Given the description of an element on the screen output the (x, y) to click on. 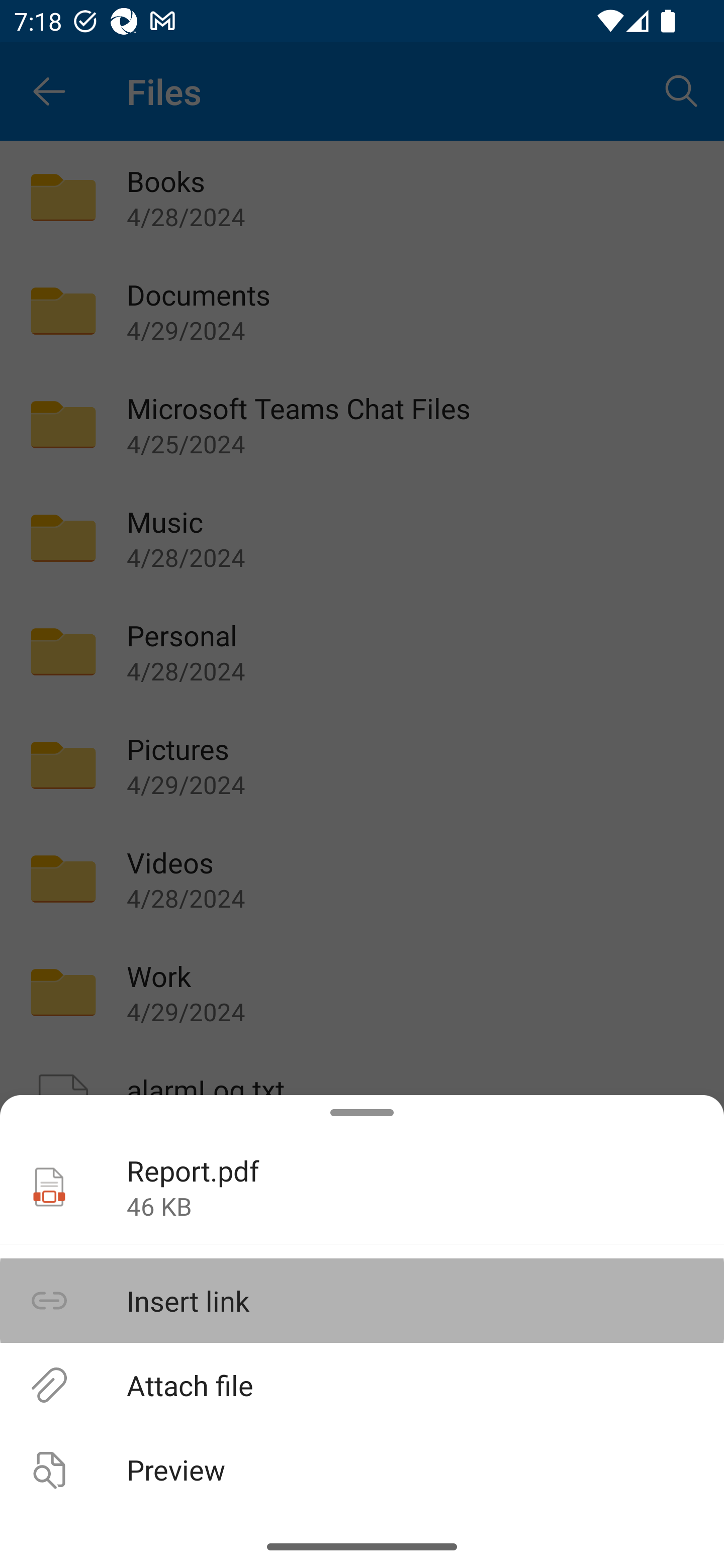
Insert link (362, 1300)
Attach file (362, 1384)
Preview (362, 1468)
